Given the description of an element on the screen output the (x, y) to click on. 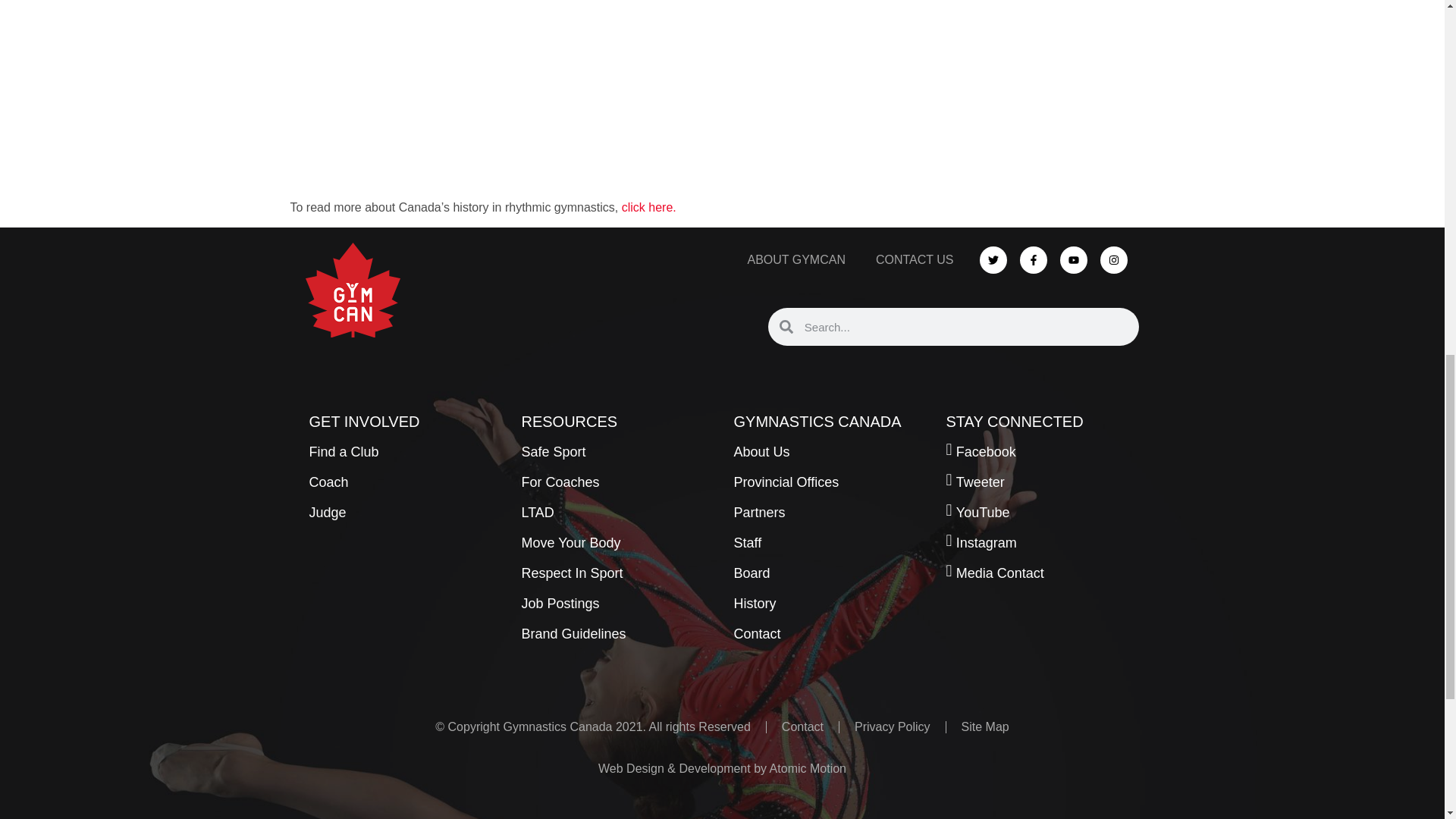
click here. (649, 206)
ABOUT GYMCAN (796, 259)
